Given the description of an element on the screen output the (x, y) to click on. 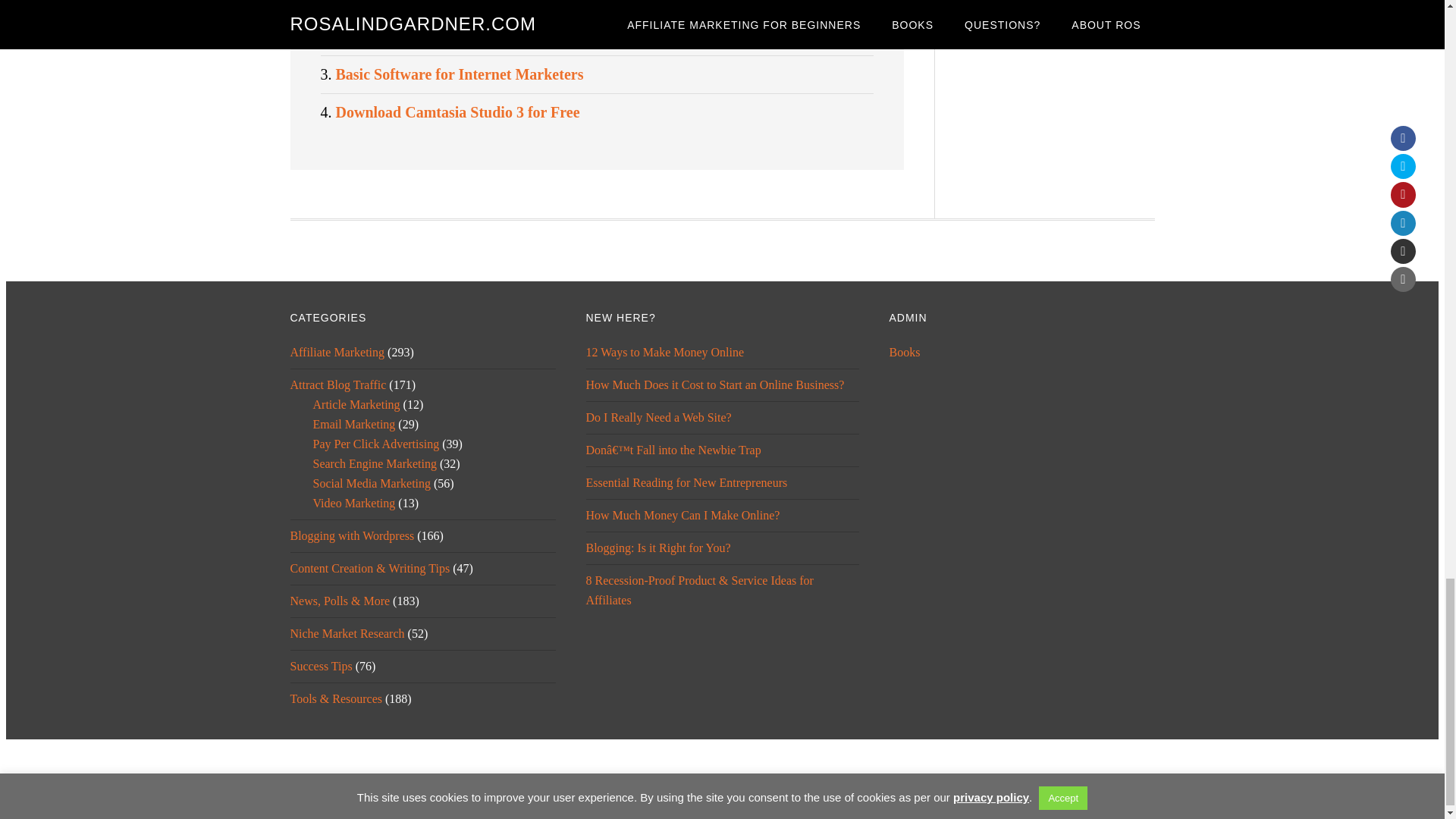
7 Methods to Boost Your Writing Skills: Tested (486, 36)
Basic Software for Internet Marketers (458, 74)
Download Camtasia Studio 3 for Free (456, 112)
Affiliate Marketing (336, 351)
